Given the description of an element on the screen output the (x, y) to click on. 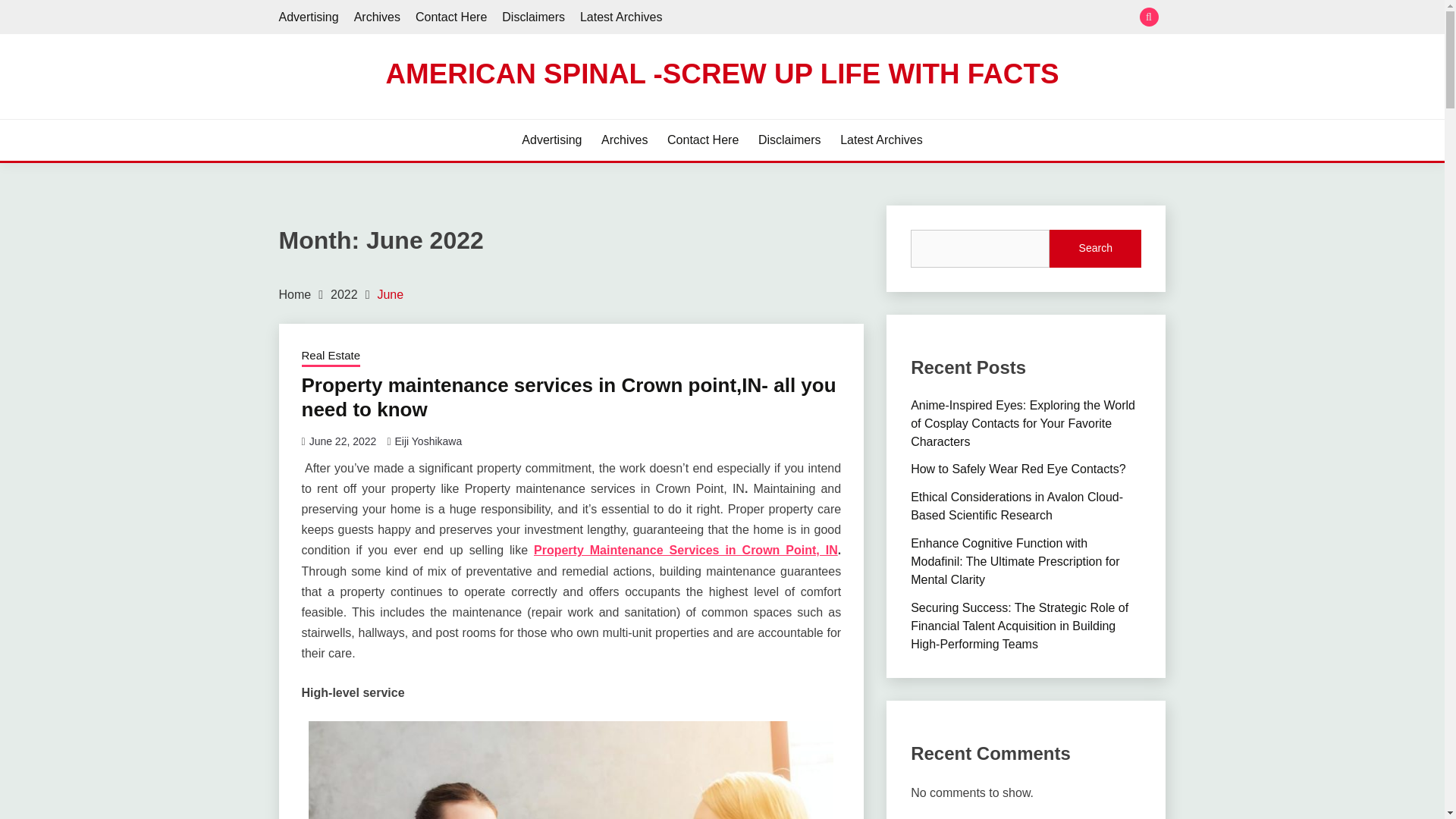
AMERICAN SPINAL -SCREW UP LIFE WITH FACTS (722, 73)
Disclaimers (533, 16)
June 22, 2022 (342, 440)
Contact Here (450, 16)
Property Maintenance Services in Crown Point, IN (686, 549)
Disclaimers (789, 140)
Advertising (550, 140)
Latest Archives (881, 140)
Eiji Yoshikawa (427, 440)
